Given the description of an element on the screen output the (x, y) to click on. 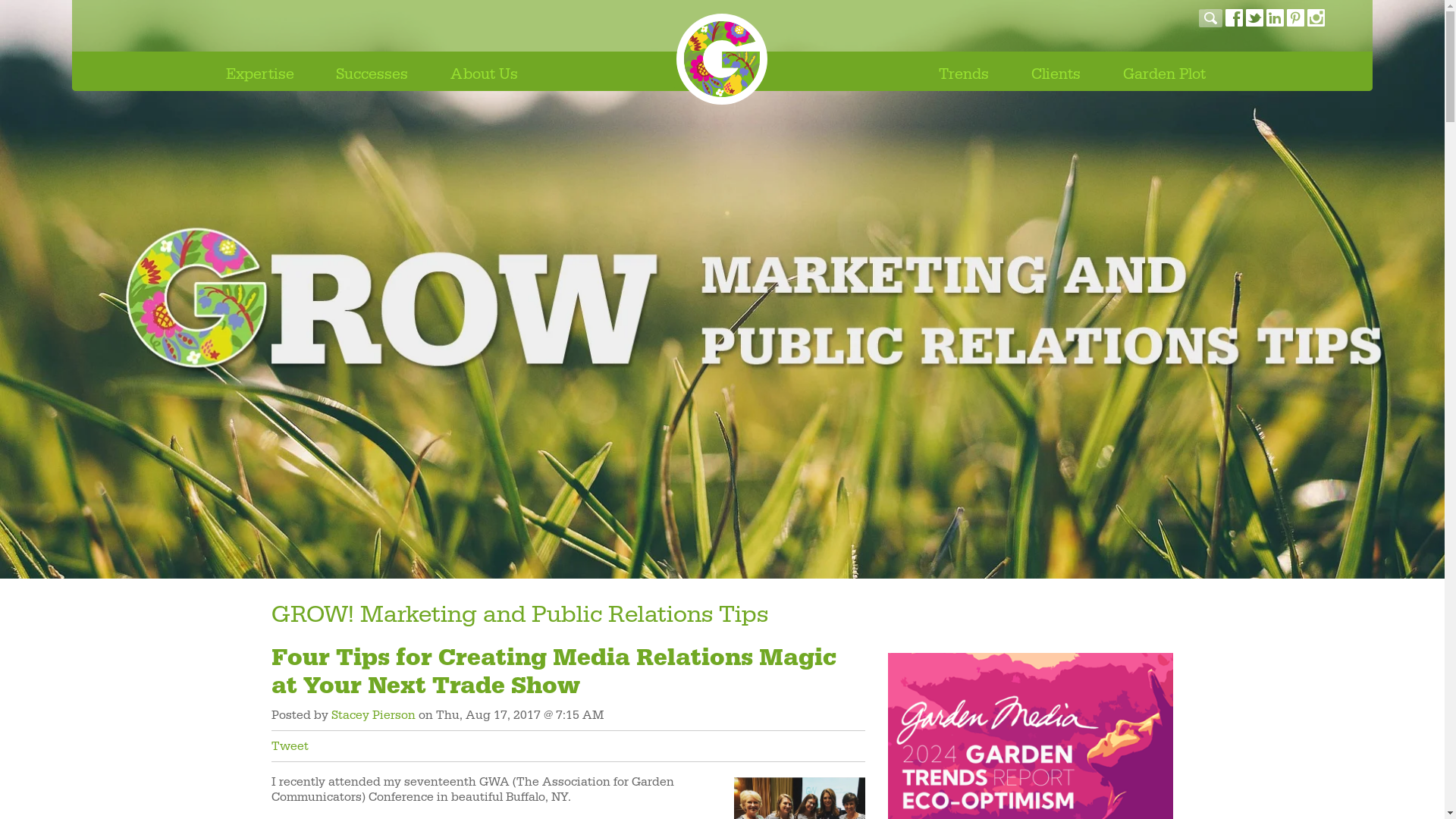
Successes (373, 69)
Garden Plot (1165, 69)
Clients (1057, 69)
Expertise (261, 69)
Trends (965, 69)
About Us (485, 69)
